Given the description of an element on the screen output the (x, y) to click on. 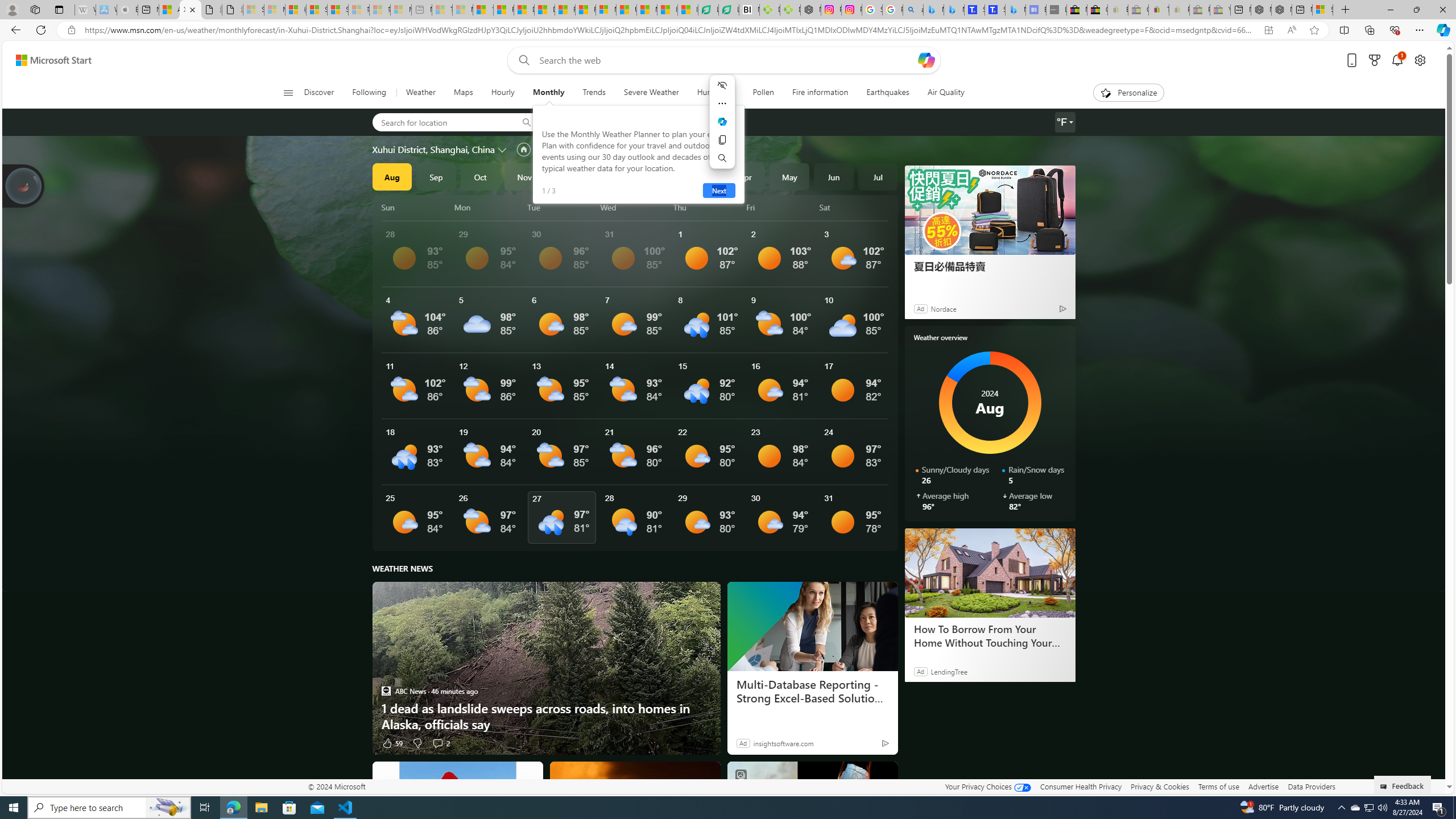
Trends (593, 92)
